Given the description of an element on the screen output the (x, y) to click on. 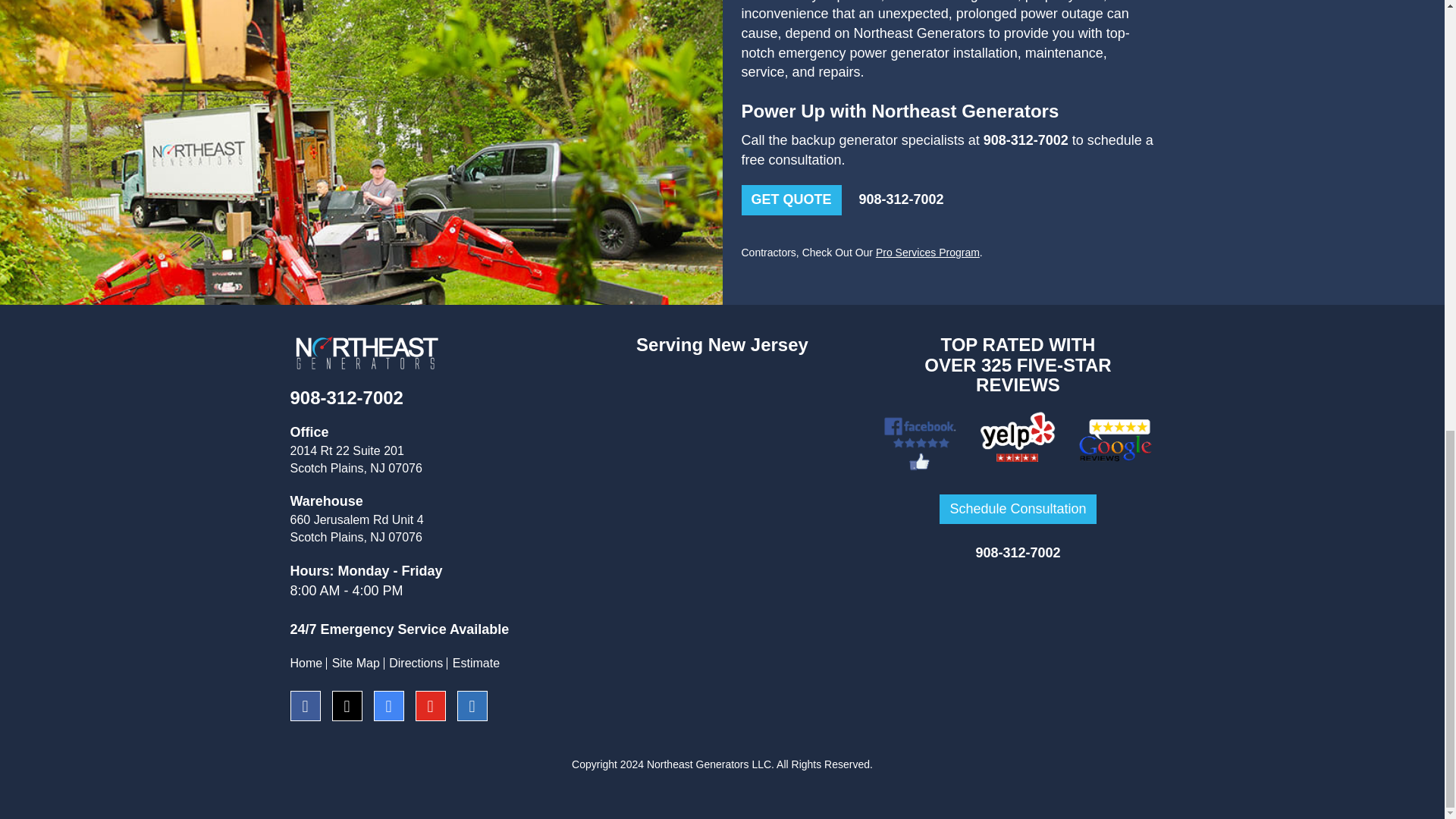
Top Rated on Facebook (918, 441)
Top Rated on Yelp (1017, 441)
Top Rated on Google (1116, 441)
Best NJ Generator Installations and Service (365, 352)
